Given the description of an element on the screen output the (x, y) to click on. 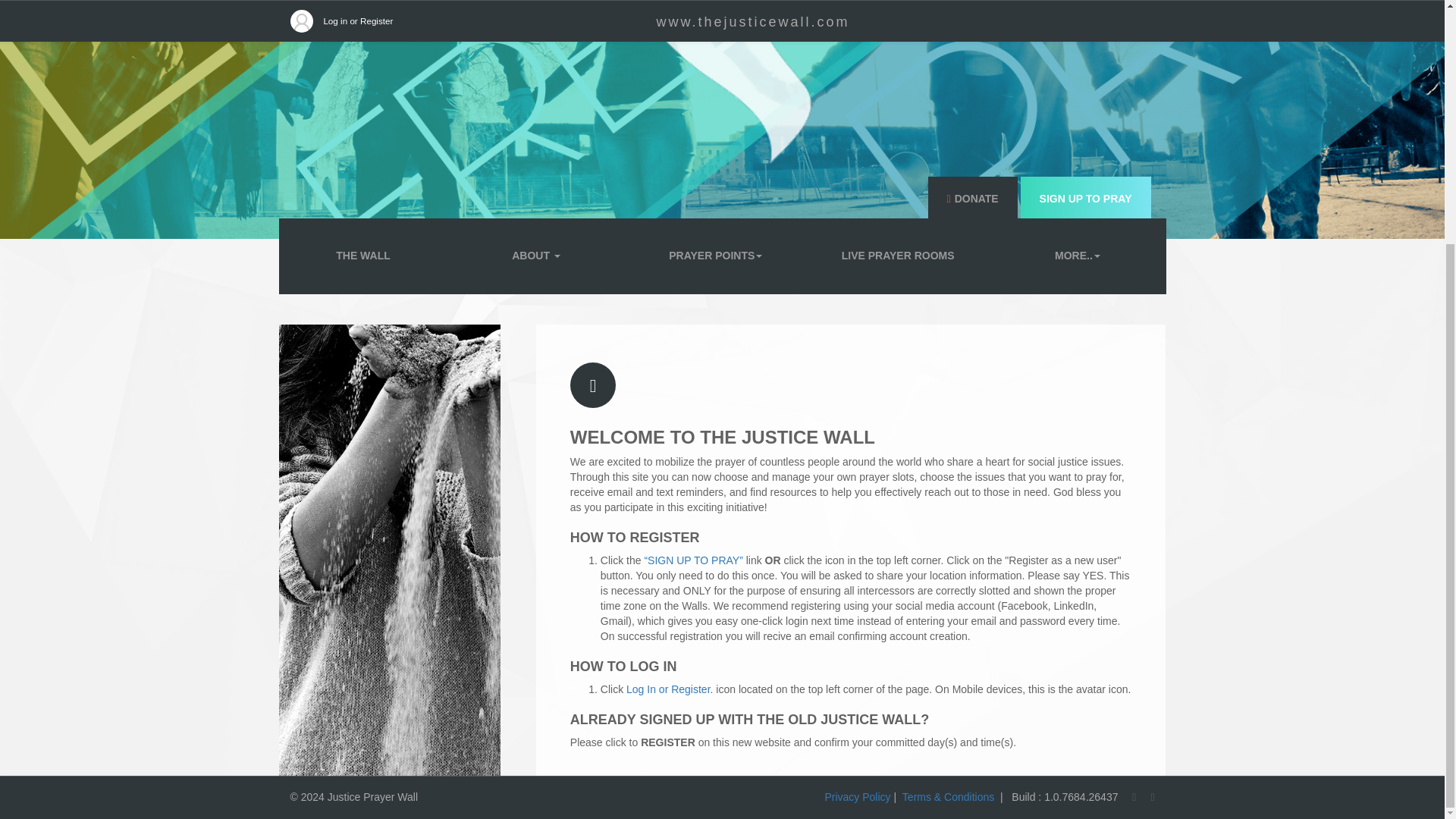
Log In to the Justice Wall. (669, 689)
THE WALL (363, 256)
DONATE (972, 198)
ABOUT (536, 256)
Register as a new user on the Justice Wall. (692, 560)
SIGN UP TO PRAY (1086, 198)
